Given the description of an element on the screen output the (x, y) to click on. 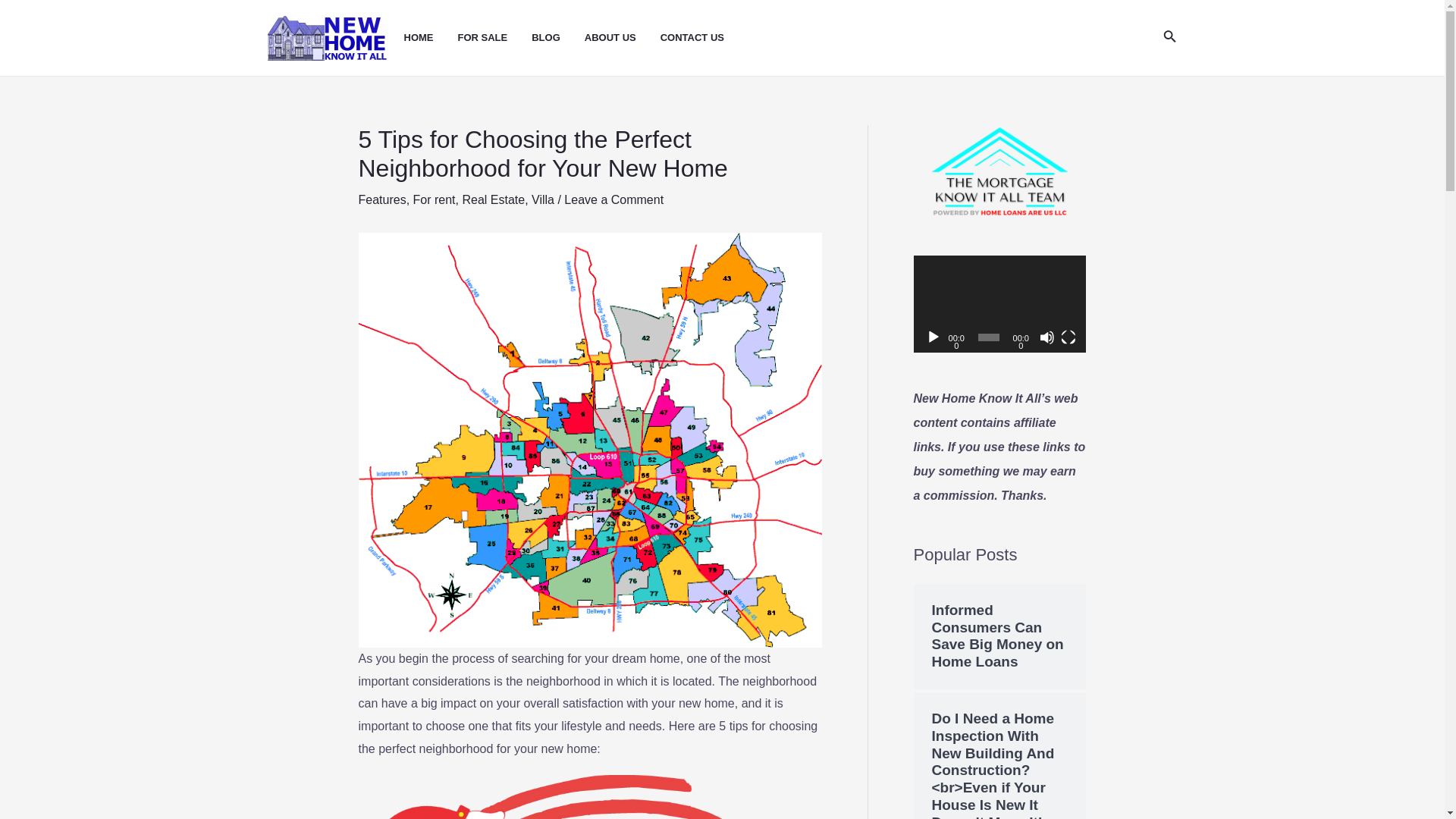
Real Estate (492, 199)
For rent (434, 199)
Mute (1046, 337)
Leave a Comment (613, 199)
Villa (542, 199)
Features (382, 199)
ABOUT US (623, 38)
Fullscreen (1068, 337)
FOR SALE (495, 38)
Play (932, 337)
CONTACT US (704, 38)
